Given the description of an element on the screen output the (x, y) to click on. 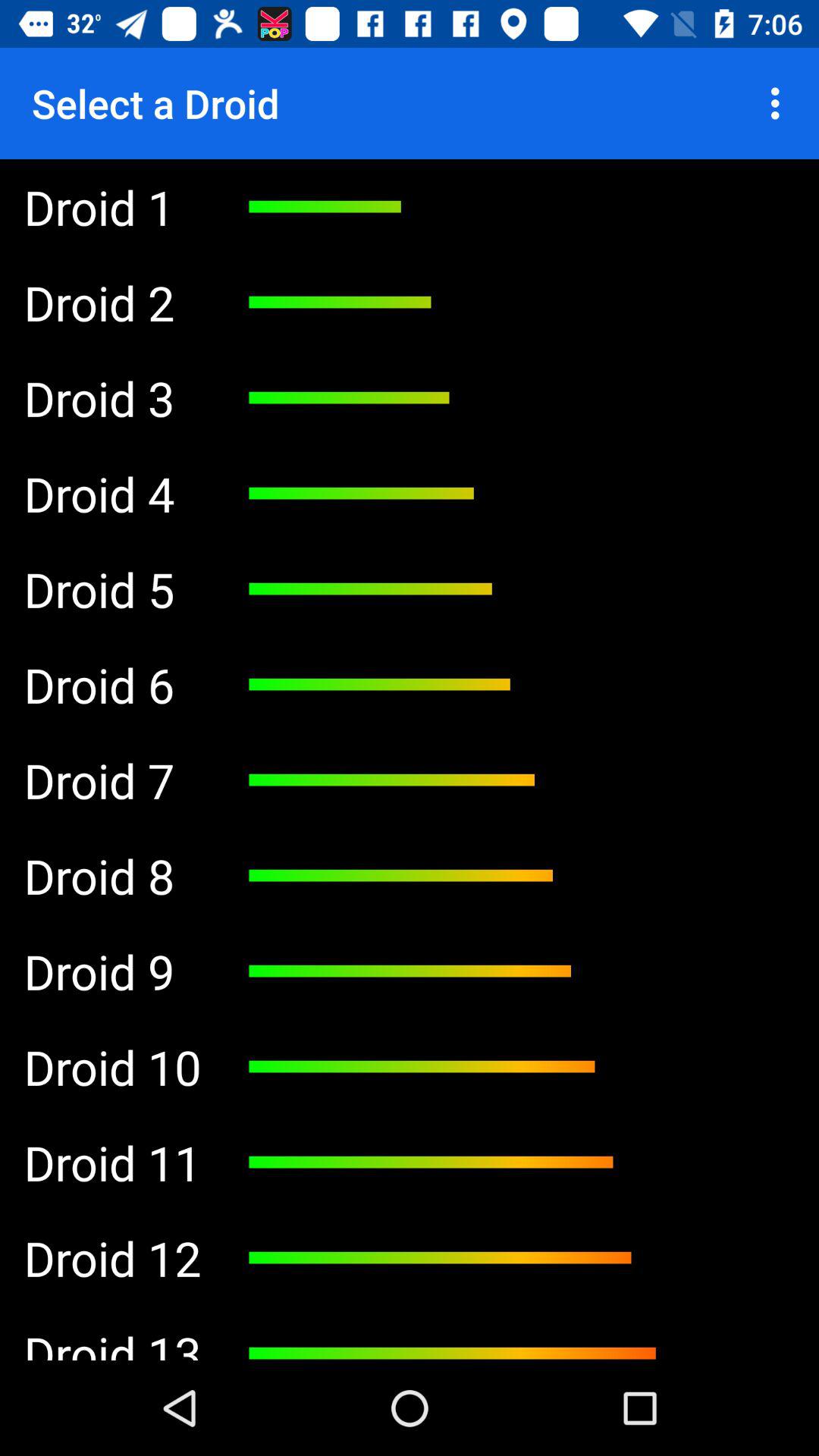
swipe to the droid 4 app (112, 493)
